Given the description of an element on the screen output the (x, y) to click on. 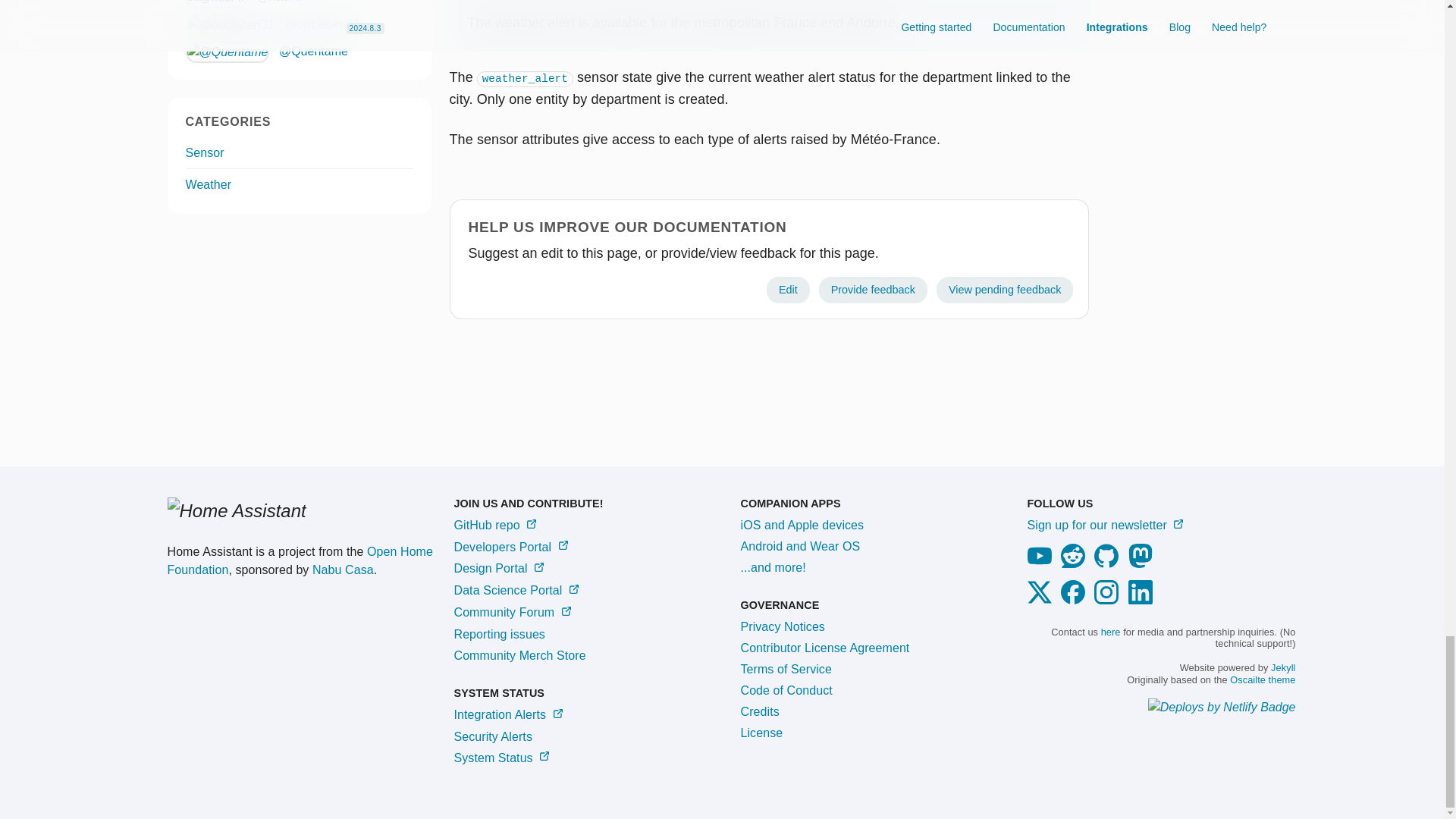
LinkedIn (1143, 599)
GitHub (1109, 563)
Facebook (1075, 599)
Provide feedback (872, 289)
Instagram (1109, 599)
Reddit (1075, 563)
X (1041, 599)
View pending feedback (1005, 289)
Edit (788, 289)
YouTube (1041, 563)
